Given the description of an element on the screen output the (x, y) to click on. 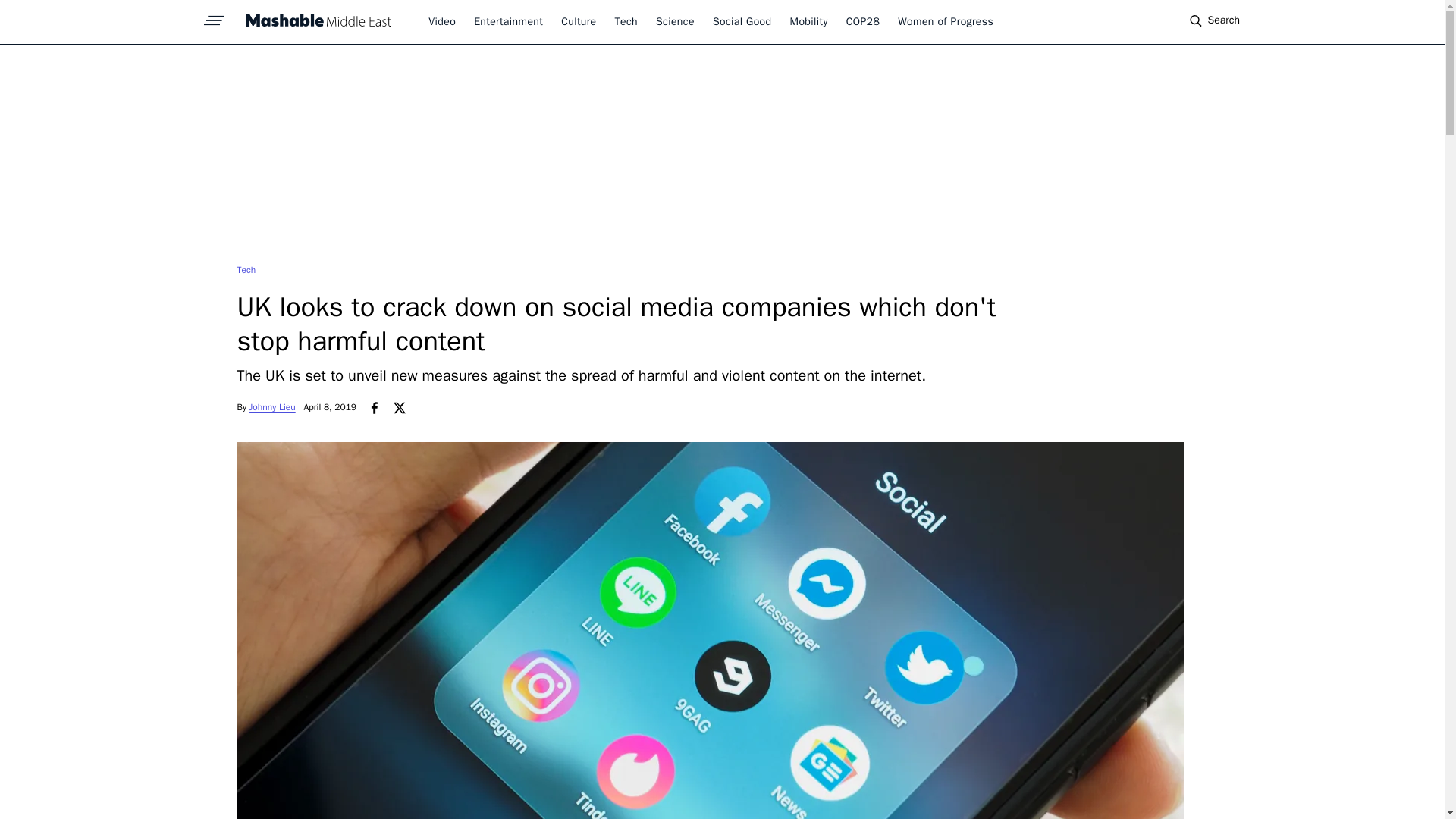
Culture (577, 21)
Tech (625, 21)
Tech (245, 269)
Science (675, 21)
Tech (245, 269)
Women of Progress (945, 21)
Entertainment (508, 21)
Video (441, 21)
sprite-hamburger (213, 16)
Mobility (809, 21)
